Given the description of an element on the screen output the (x, y) to click on. 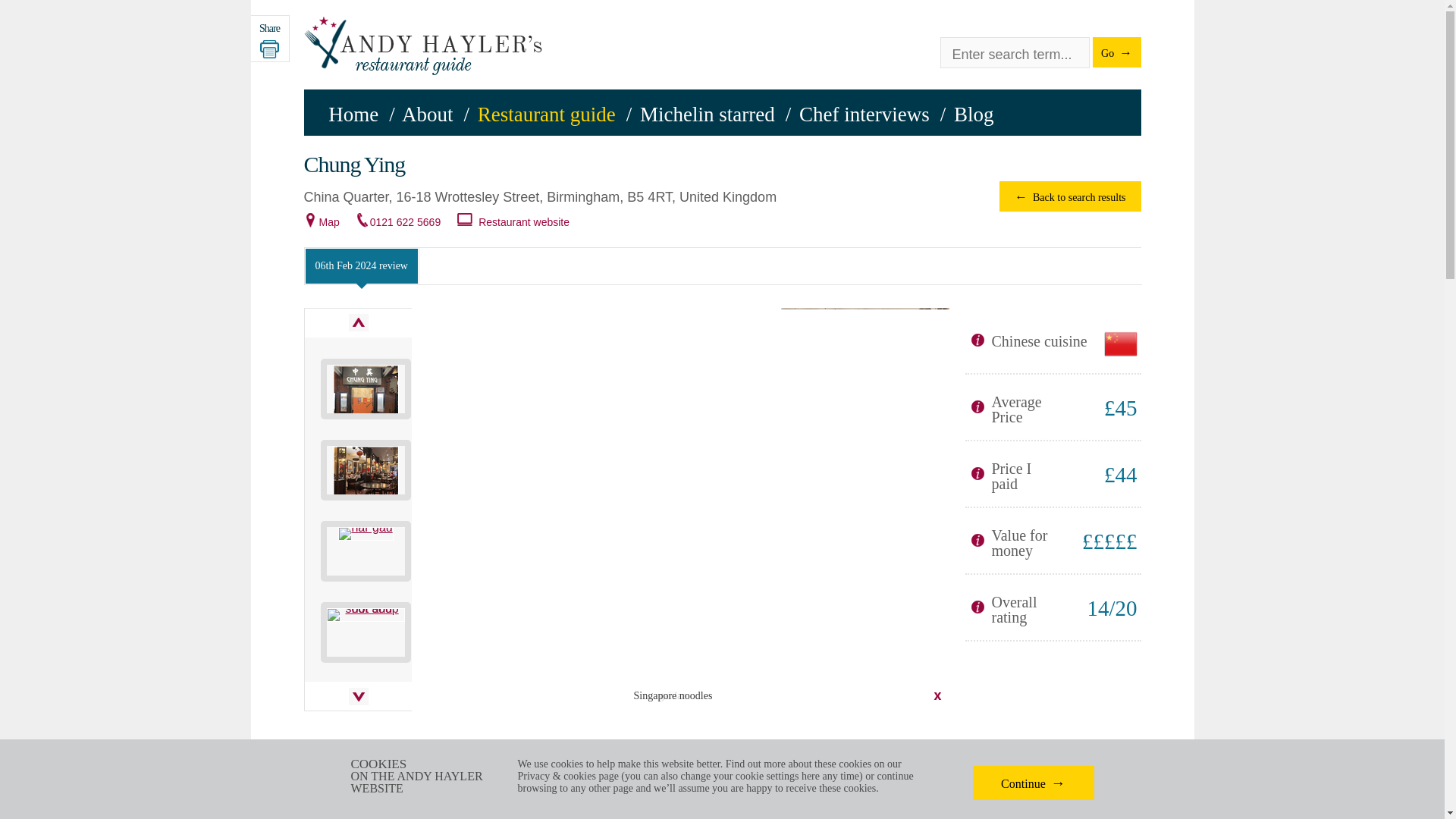
Blog (973, 114)
Chef interviews (864, 114)
Restaurant guide (546, 114)
06th Feb 2024 review (361, 266)
Map (328, 222)
Michelin starred (707, 114)
About (426, 114)
Back to search results (1069, 195)
Restaurant website (524, 222)
Go (1116, 51)
